Given the description of an element on the screen output the (x, y) to click on. 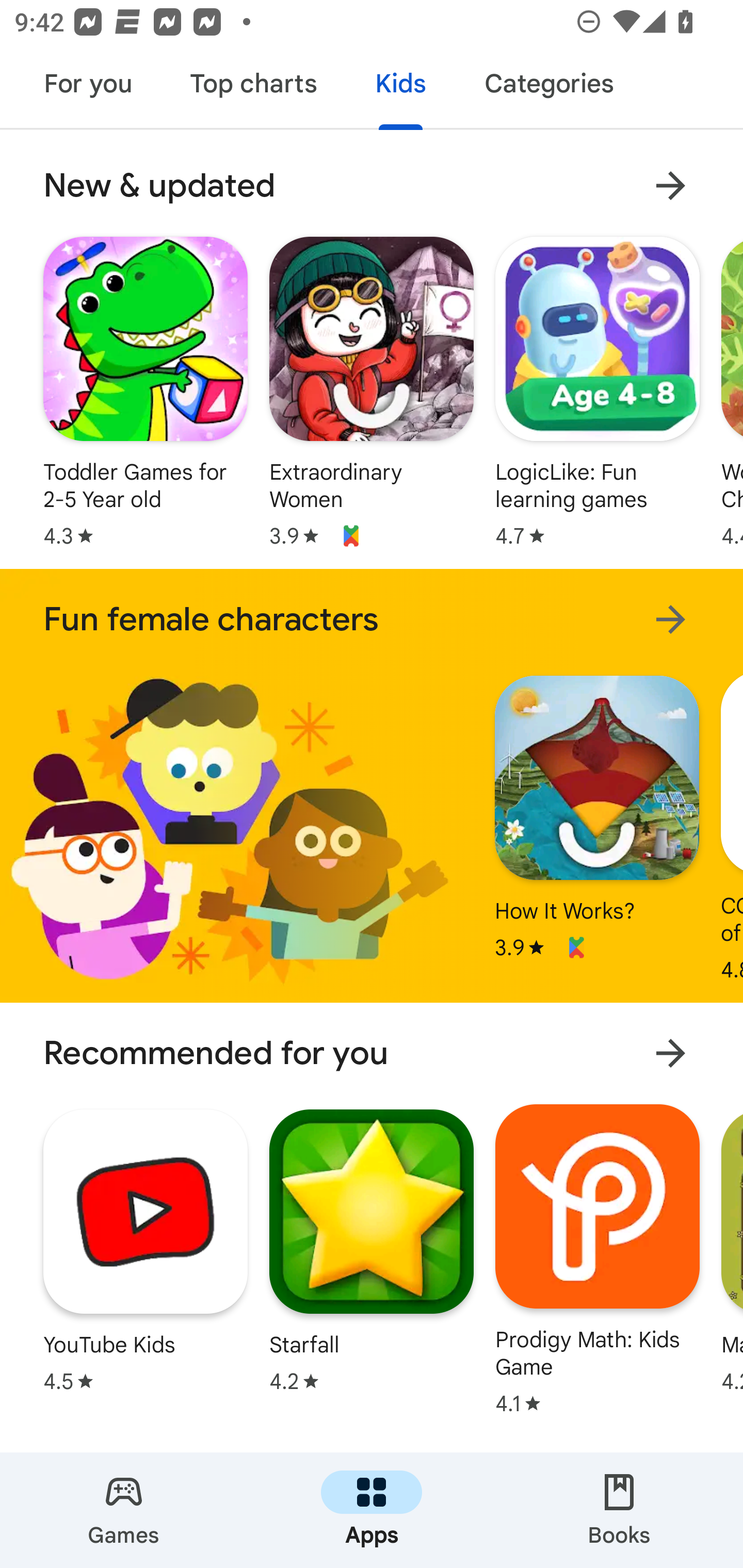
For you (87, 86)
Top charts (253, 86)
Categories (548, 86)
New & updated More results for New & updated (371, 185)
More results for New & updated (670, 185)
Toddler Games for 2-5 Year old
Star rating: 4.3
 (145, 391)
Extraordinary Women
Star rating: 3.9
 (371, 391)
LogicLike: Fun learning games
Star rating: 4.7
 (597, 391)
More results for Fun female characters (670, 619)
How It Works?
Star rating: 3.9
 (596, 816)
More results for Recommended for you (670, 1052)
YouTube Kids
Star rating: 4.5
 (145, 1250)
Starfall
Star rating: 4.2
 (371, 1250)
Prodigy Math: Kids Game
Star rating: 4.1
 (597, 1258)
Games (123, 1509)
Books (619, 1509)
